Given the description of an element on the screen output the (x, y) to click on. 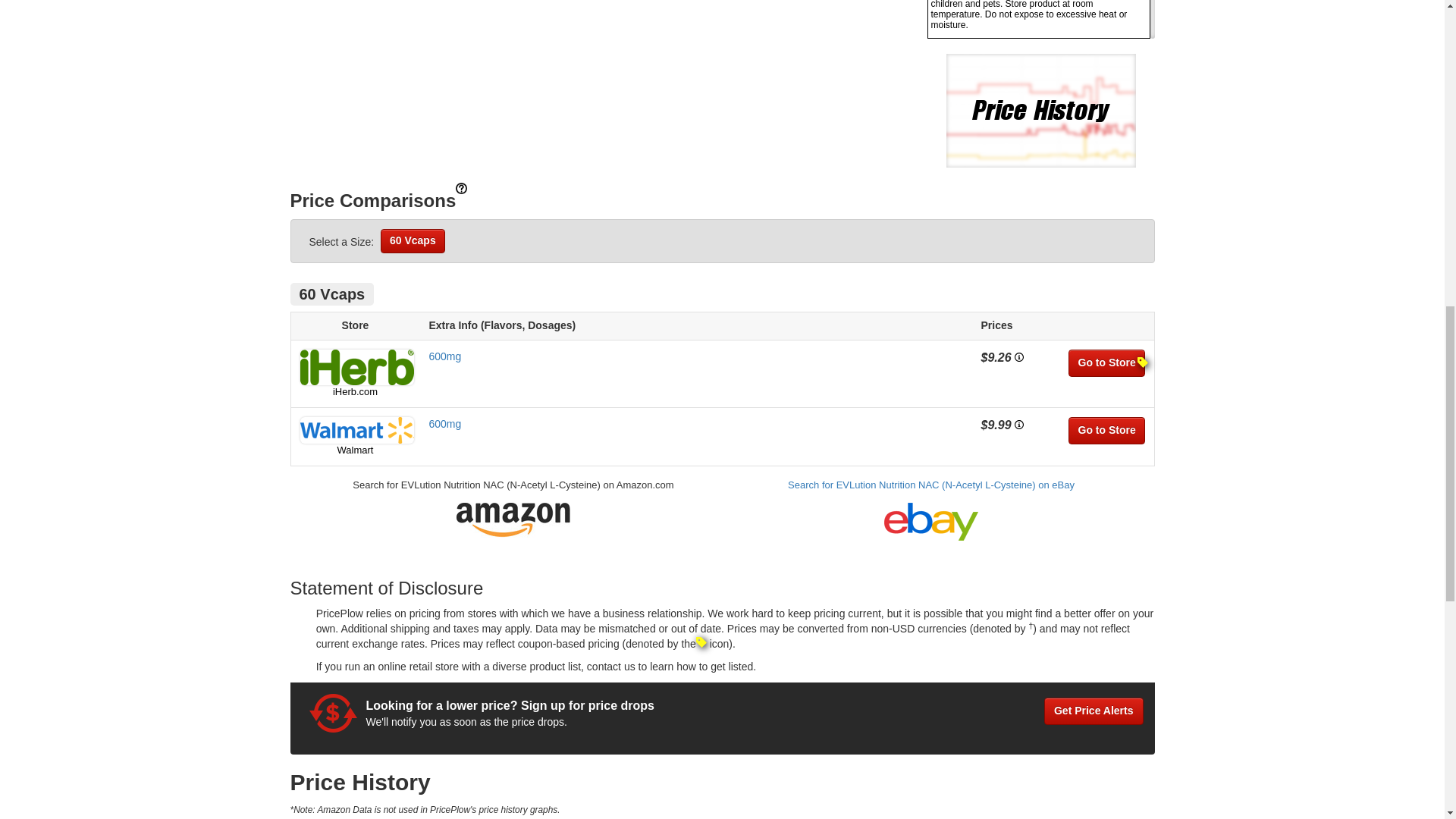
Example coupon icon (700, 642)
